Given the description of an element on the screen output the (x, y) to click on. 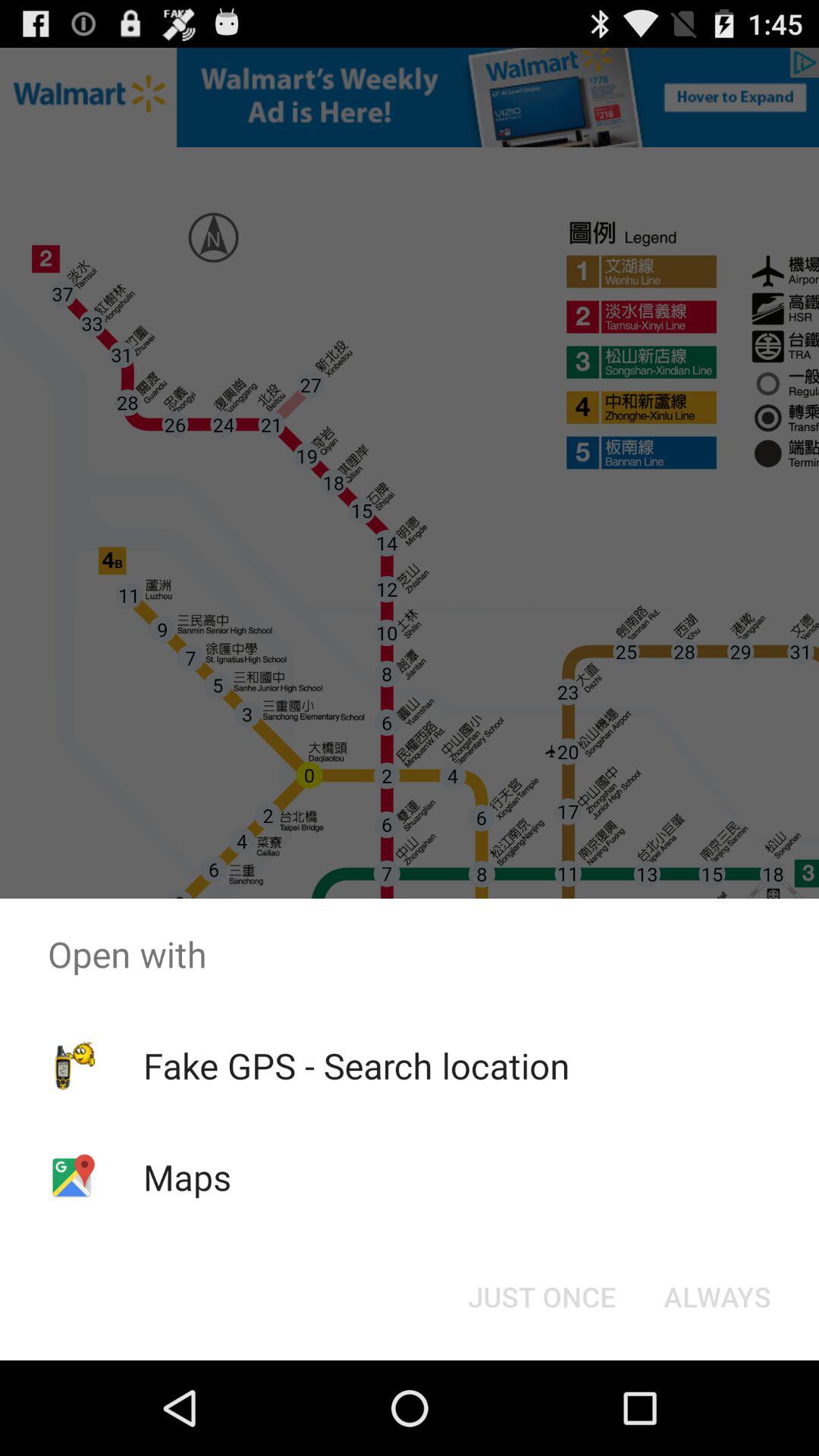
open the item below fake gps search item (541, 1296)
